Given the description of an element on the screen output the (x, y) to click on. 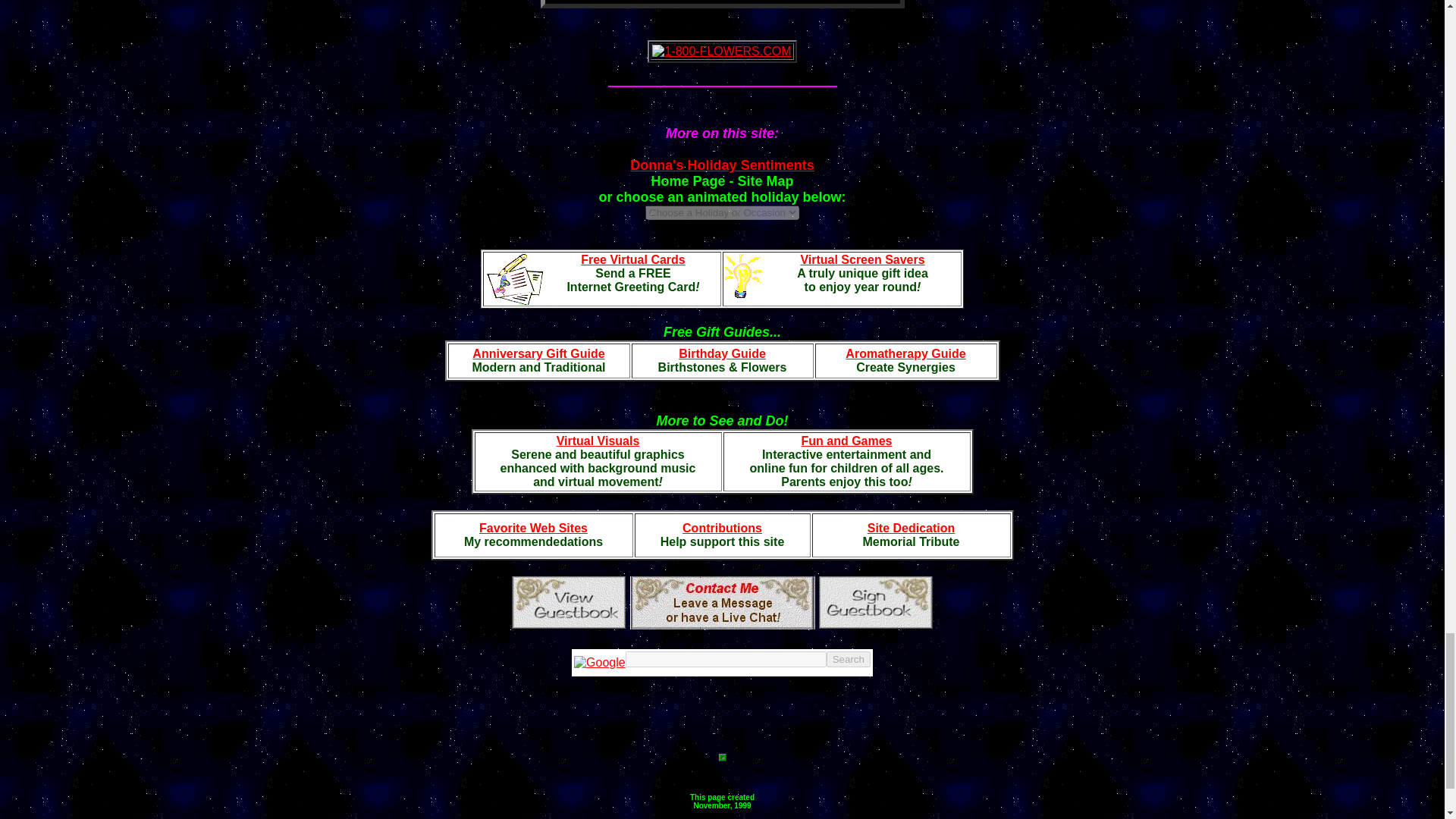
Free Virtual Cards (632, 259)
Birthday Guide (721, 353)
Aromatherapy Guide (905, 353)
Site Dedication (911, 527)
Virtual Screen Savers (861, 259)
Search (848, 659)
Contributions (721, 527)
Virtual Visuals (598, 440)
Search (848, 659)
Favorite Web Sites (533, 527)
Anniversary Gift Guide (537, 353)
Donna's Holiday Sentiments (721, 165)
Fun and Games (845, 440)
